Given the description of an element on the screen output the (x, y) to click on. 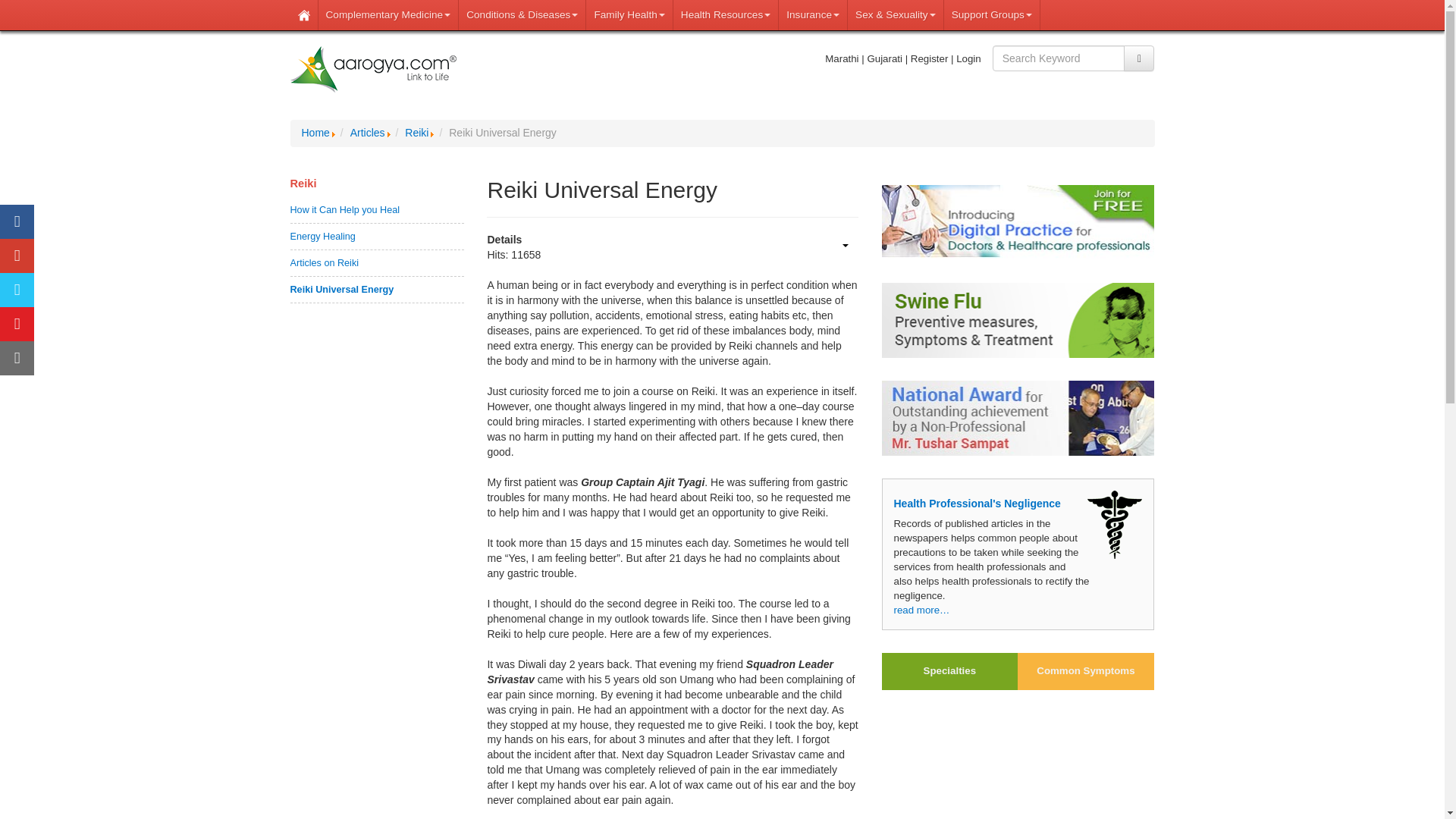
Swine Flu (1017, 319)
Twitter (16, 289)
Facebook (16, 221)
Aarogya.com (373, 69)
Complementary Medicine (389, 15)
Youtube (16, 324)
Advertisement (1017, 761)
